Given the description of an element on the screen output the (x, y) to click on. 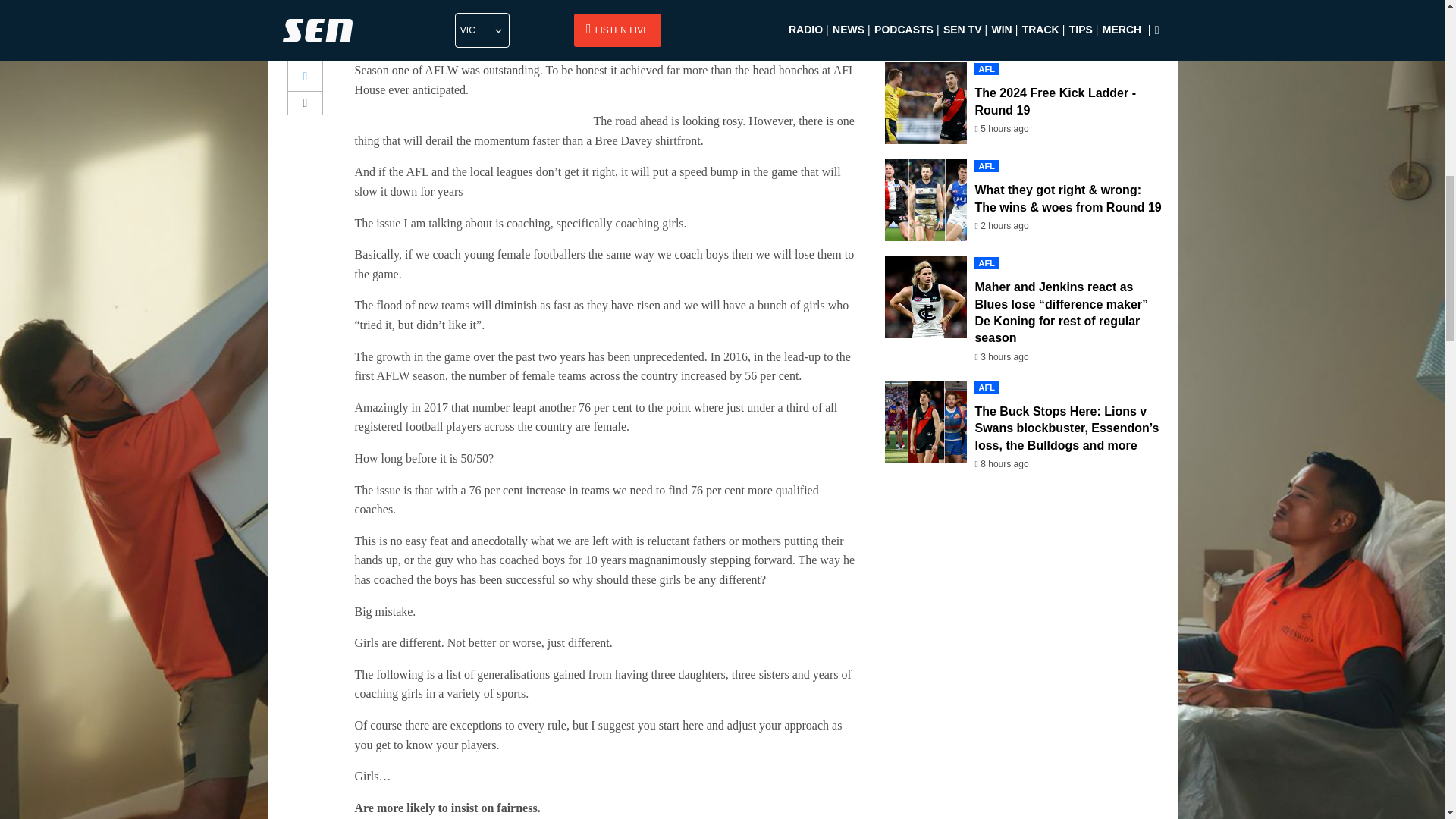
Share on Facebook (305, 45)
Tweet (305, 75)
